Given the description of an element on the screen output the (x, y) to click on. 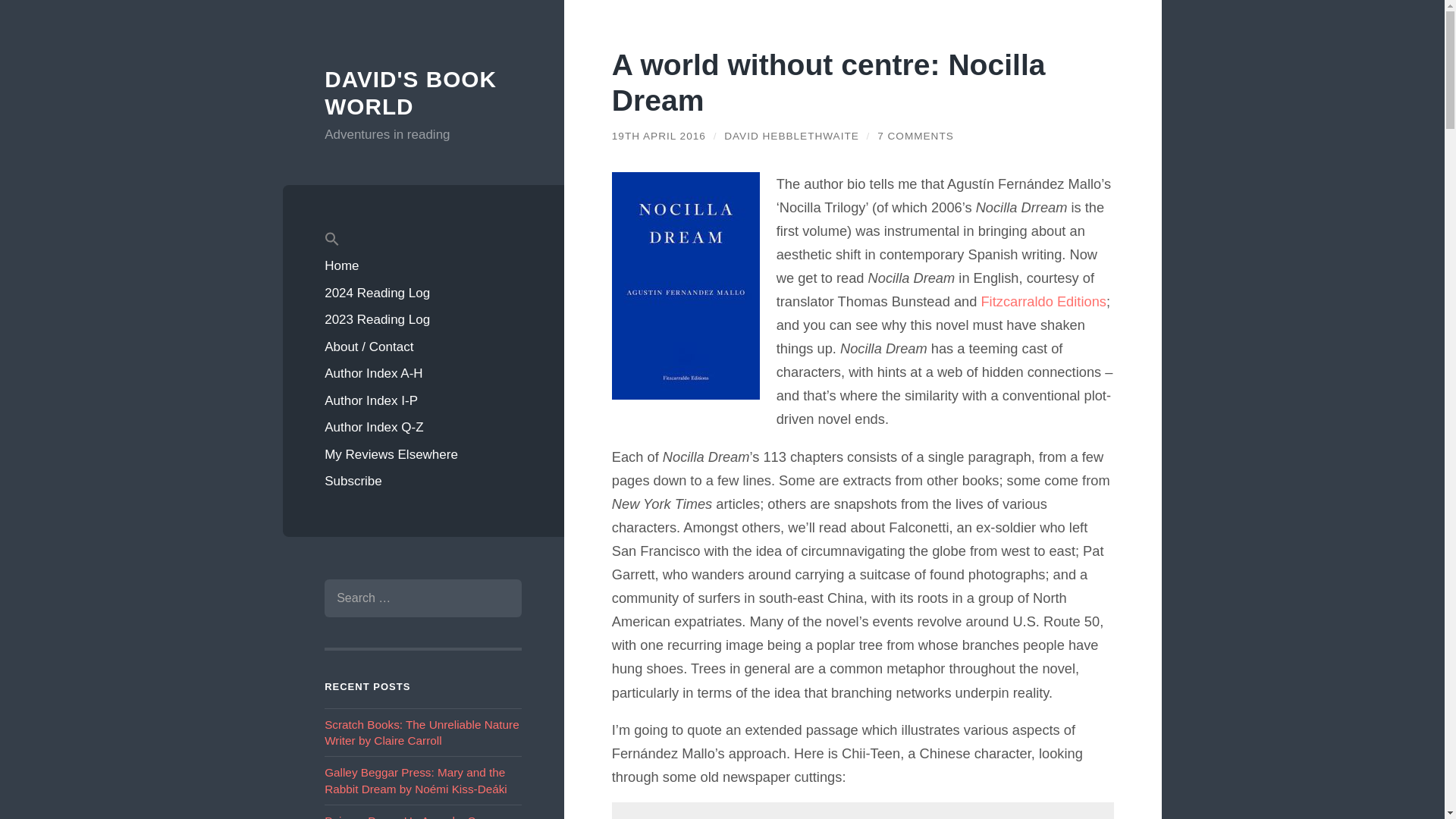
Posts by David Hebblethwaite (791, 135)
2023 Reading Log (422, 319)
Subscribe (422, 481)
Author Index I-P (422, 400)
My Reviews Elsewhere (422, 454)
Author Index Q-Z (422, 427)
Author Index A-H (422, 373)
2024 Reading Log (422, 293)
Home (422, 266)
Search (498, 598)
Search (498, 598)
Search (498, 598)
DAVID'S BOOK WORLD (410, 92)
